Given the description of an element on the screen output the (x, y) to click on. 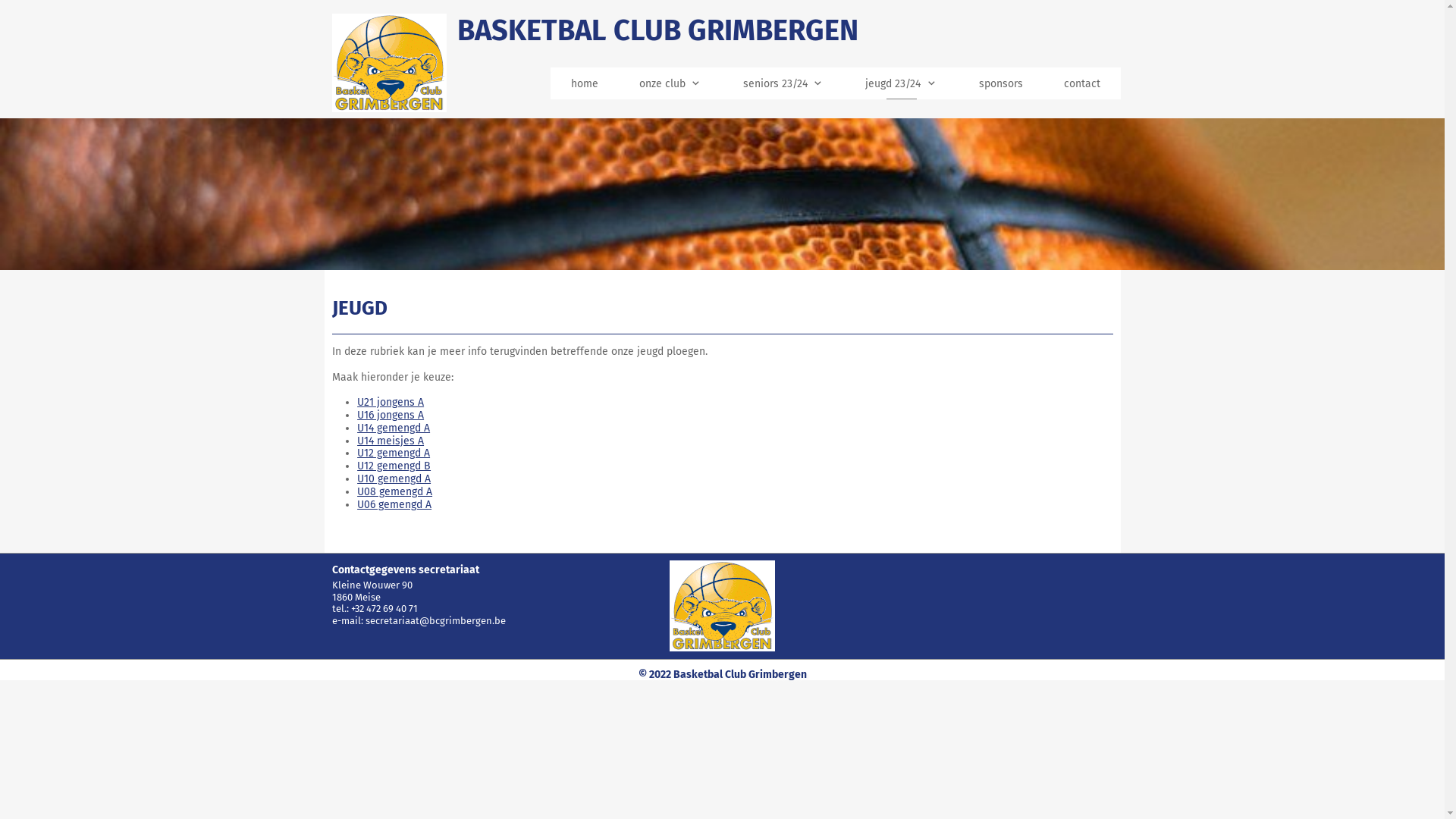
secretariaat@bcgrimbergen.be Element type: text (435, 620)
U14 meisjes A Element type: text (390, 440)
U14 gemengd A Element type: text (393, 427)
U10 gemengd A Element type: text (393, 478)
U08 gemengd A Element type: text (394, 491)
U16 jongens A Element type: text (390, 414)
contact Element type: text (1081, 83)
U06 gemengd A Element type: text (394, 504)
onze club Element type: text (670, 83)
U12 gemengd A Element type: text (393, 452)
U21 jongens A Element type: text (390, 401)
sponsors Element type: text (1000, 83)
seniors 23/24 Element type: text (783, 83)
jeugd 23/24 Element type: text (900, 83)
U12 gemengd B Element type: text (393, 465)
home Element type: text (584, 83)
